Given the description of an element on the screen output the (x, y) to click on. 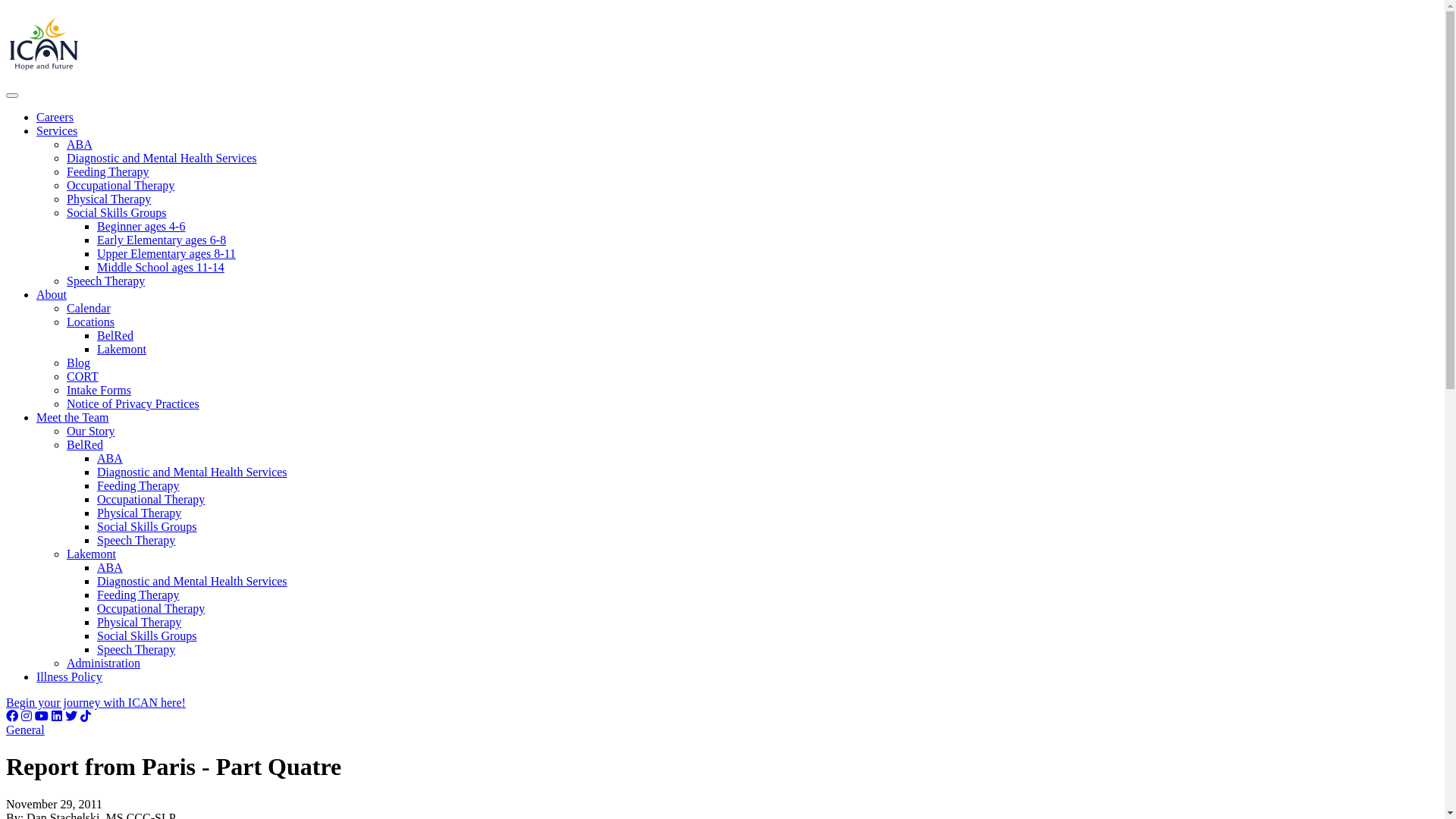
CORT Element type: text (82, 376)
Begin your journey with ICAN here! Element type: text (95, 702)
ABA Element type: text (109, 567)
Social Skills Groups Element type: text (147, 526)
Locations Element type: text (90, 321)
Middle School ages 11-14 Element type: text (160, 266)
BelRed Element type: text (84, 444)
Diagnostic and Mental Health Services Element type: text (192, 580)
Meet the Team Element type: text (72, 417)
Intake Forms Element type: text (98, 389)
Diagnostic and Mental Health Services Element type: text (161, 157)
Notice of Privacy Practices Element type: text (132, 403)
Services Element type: text (56, 130)
Early Elementary ages 6-8 Element type: text (161, 239)
Calendar Element type: text (88, 307)
Diagnostic and Mental Health Services Element type: text (192, 471)
Physical Therapy Element type: text (139, 621)
Occupational Therapy Element type: text (150, 498)
Occupational Therapy Element type: text (120, 184)
Administration Element type: text (103, 662)
ABA Element type: text (79, 144)
General Element type: text (25, 729)
Speech Therapy Element type: text (105, 280)
Lakemont Element type: text (121, 348)
Social Skills Groups Element type: text (116, 212)
Physical Therapy Element type: text (108, 198)
Illness Policy Element type: text (69, 676)
BelRed Element type: text (115, 335)
Feeding Therapy Element type: text (107, 171)
Physical Therapy Element type: text (139, 512)
ABA Element type: text (109, 457)
Feeding Therapy Element type: text (138, 485)
Occupational Therapy Element type: text (150, 608)
Social Skills Groups Element type: text (147, 635)
Speech Therapy Element type: text (136, 539)
Upper Elementary ages 8-11 Element type: text (166, 253)
Our Story Element type: text (90, 430)
Speech Therapy Element type: text (136, 649)
Careers Element type: text (54, 116)
About Element type: text (51, 294)
Feeding Therapy Element type: text (138, 594)
Beginner ages 4-6 Element type: text (141, 225)
Blog Element type: text (78, 362)
Lakemont Element type: text (91, 553)
